Given the description of an element on the screen output the (x, y) to click on. 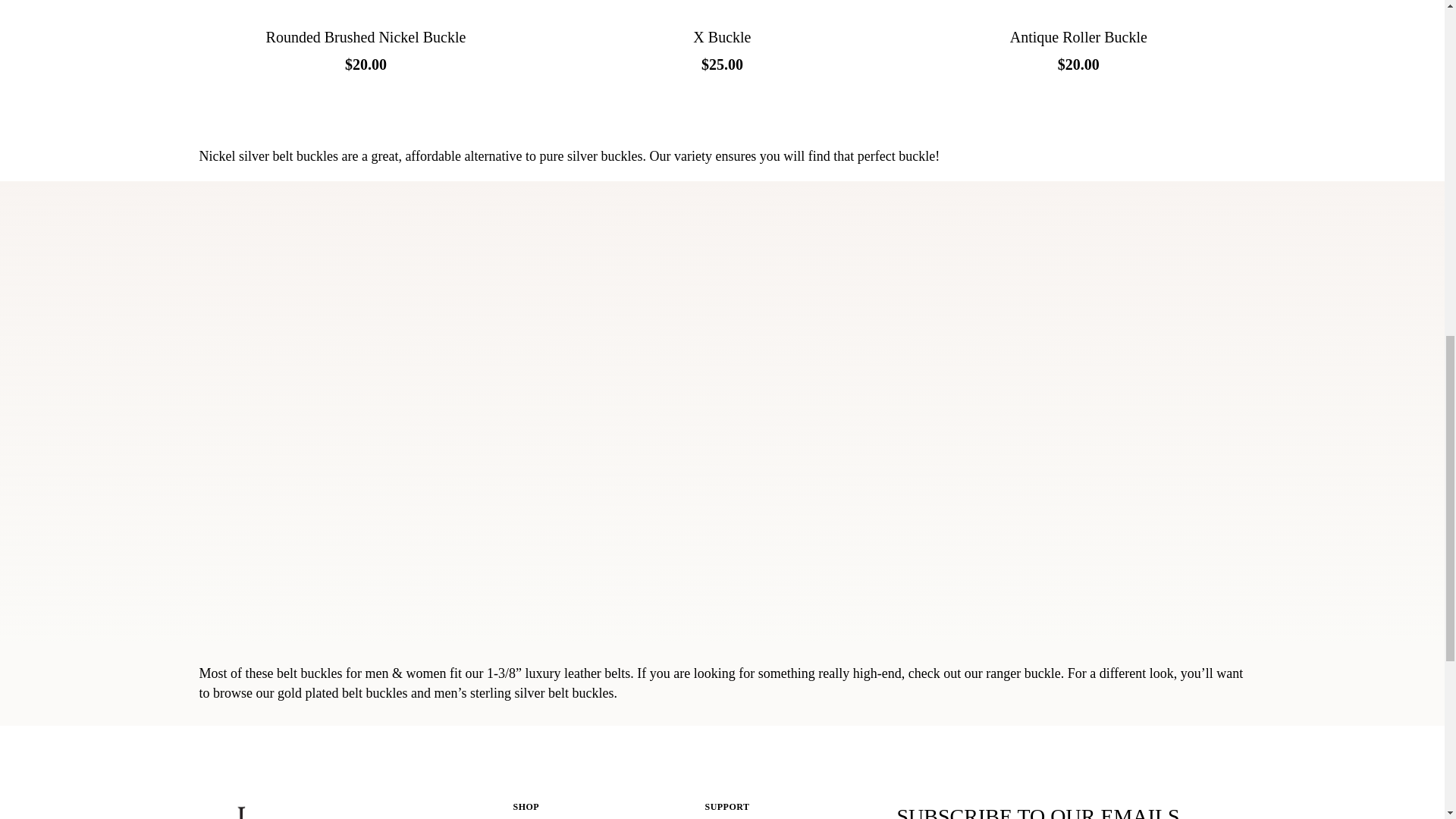
w.kleinberg (302, 810)
